Given the description of an element on the screen output the (x, y) to click on. 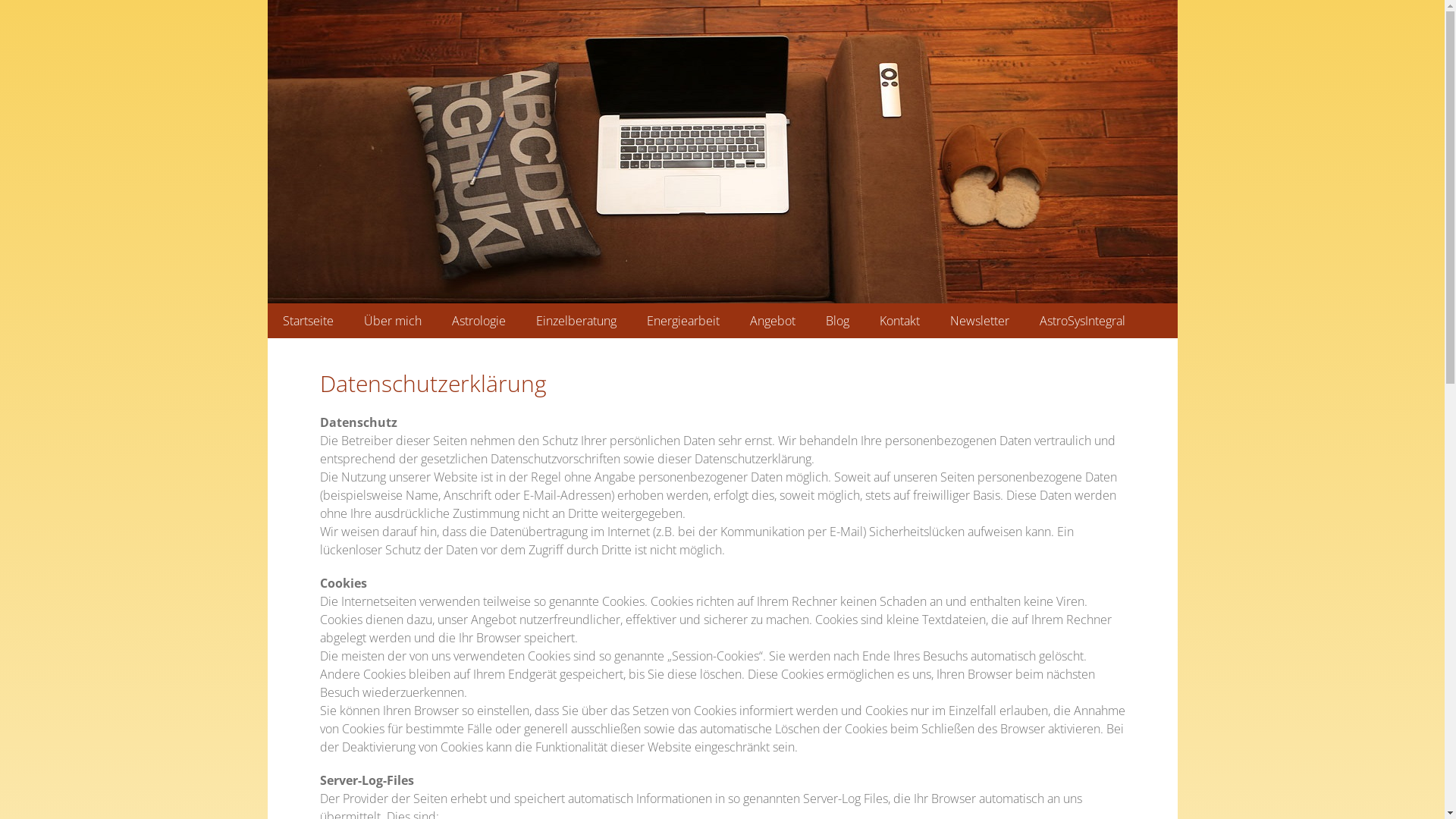
Startseite Element type: text (307, 320)
Newsletter Element type: text (978, 320)
Einzelberatung Element type: text (575, 320)
AstroSysIntegral Element type: text (1081, 320)
Astrologie Element type: text (478, 320)
Angebot Element type: text (771, 320)
Energiearbeit Element type: text (682, 320)
Blog Element type: text (836, 320)
Kontakt Element type: text (899, 320)
